Given the description of an element on the screen output the (x, y) to click on. 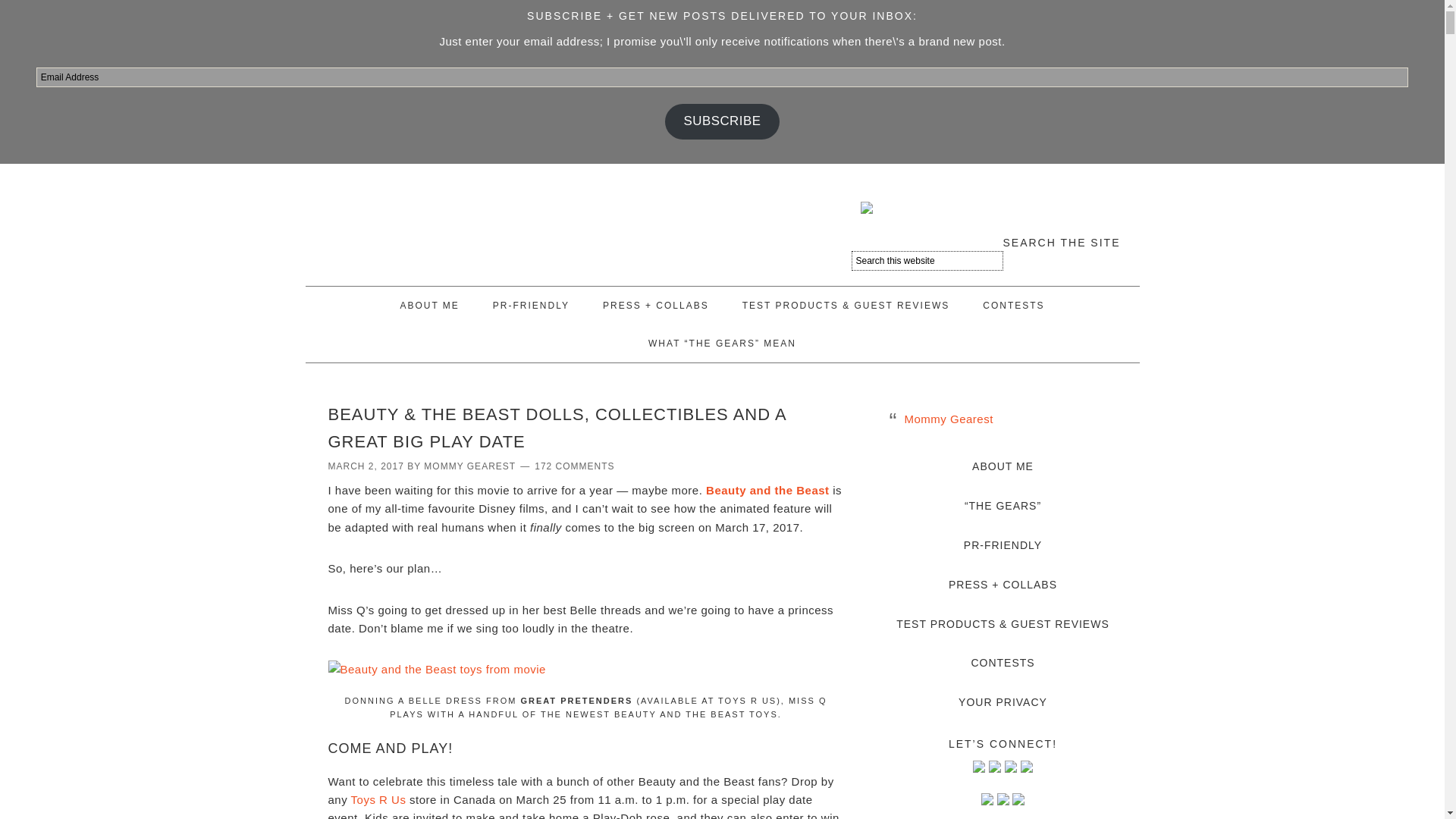
SUBSCRIBE (721, 121)
172 COMMENTS (574, 466)
ABOUT ME (429, 305)
CONTESTS (1013, 305)
Toys R Us (378, 799)
PR-FRIENDLY (531, 305)
MOMMY GEAREST (469, 466)
